Given the description of an element on the screen output the (x, y) to click on. 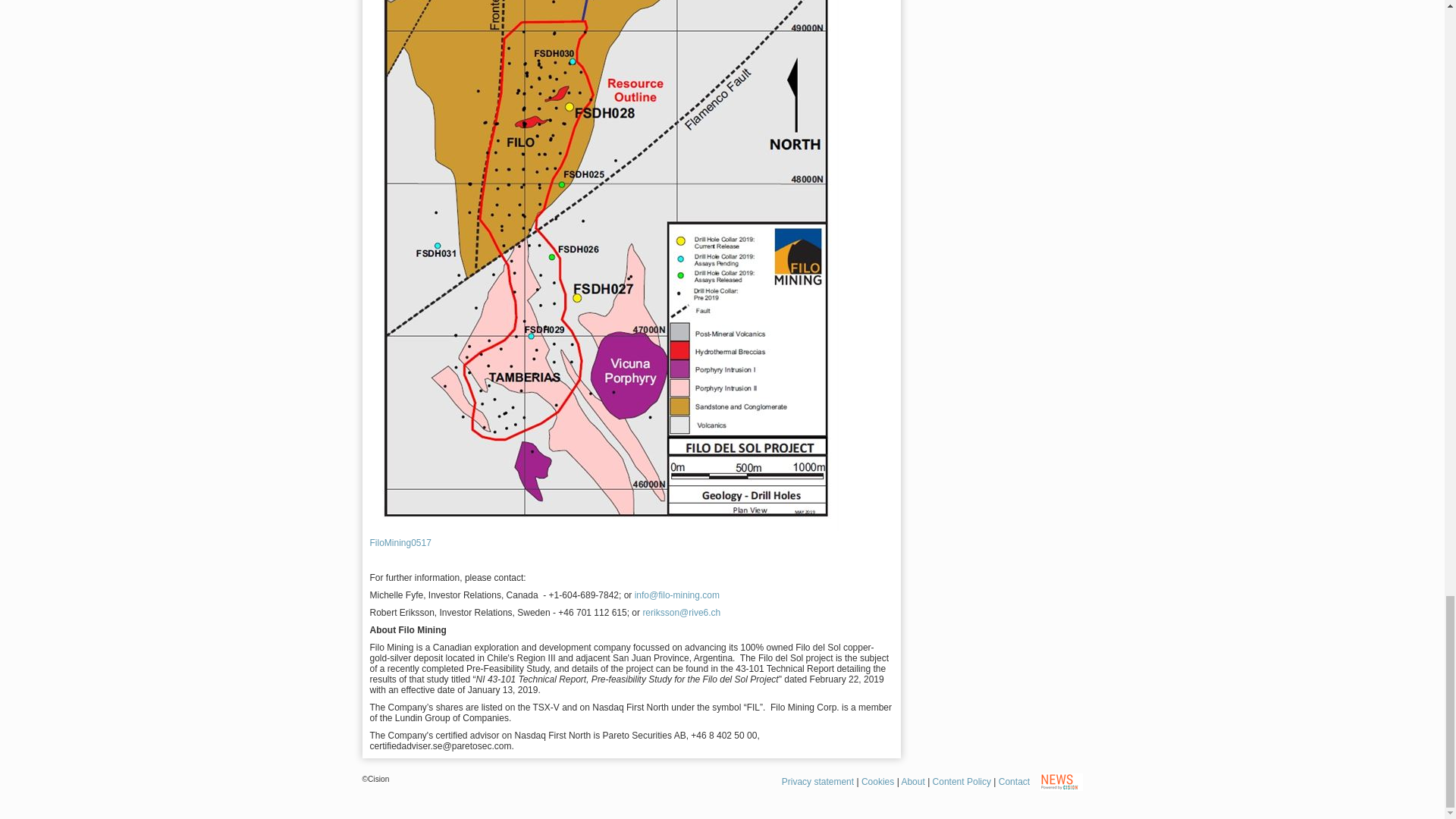
Privacy statement (817, 781)
Cookies (877, 781)
Contact (1013, 781)
About (912, 781)
Content Policy (962, 781)
FiloMining0517 (399, 542)
